Given the description of an element on the screen output the (x, y) to click on. 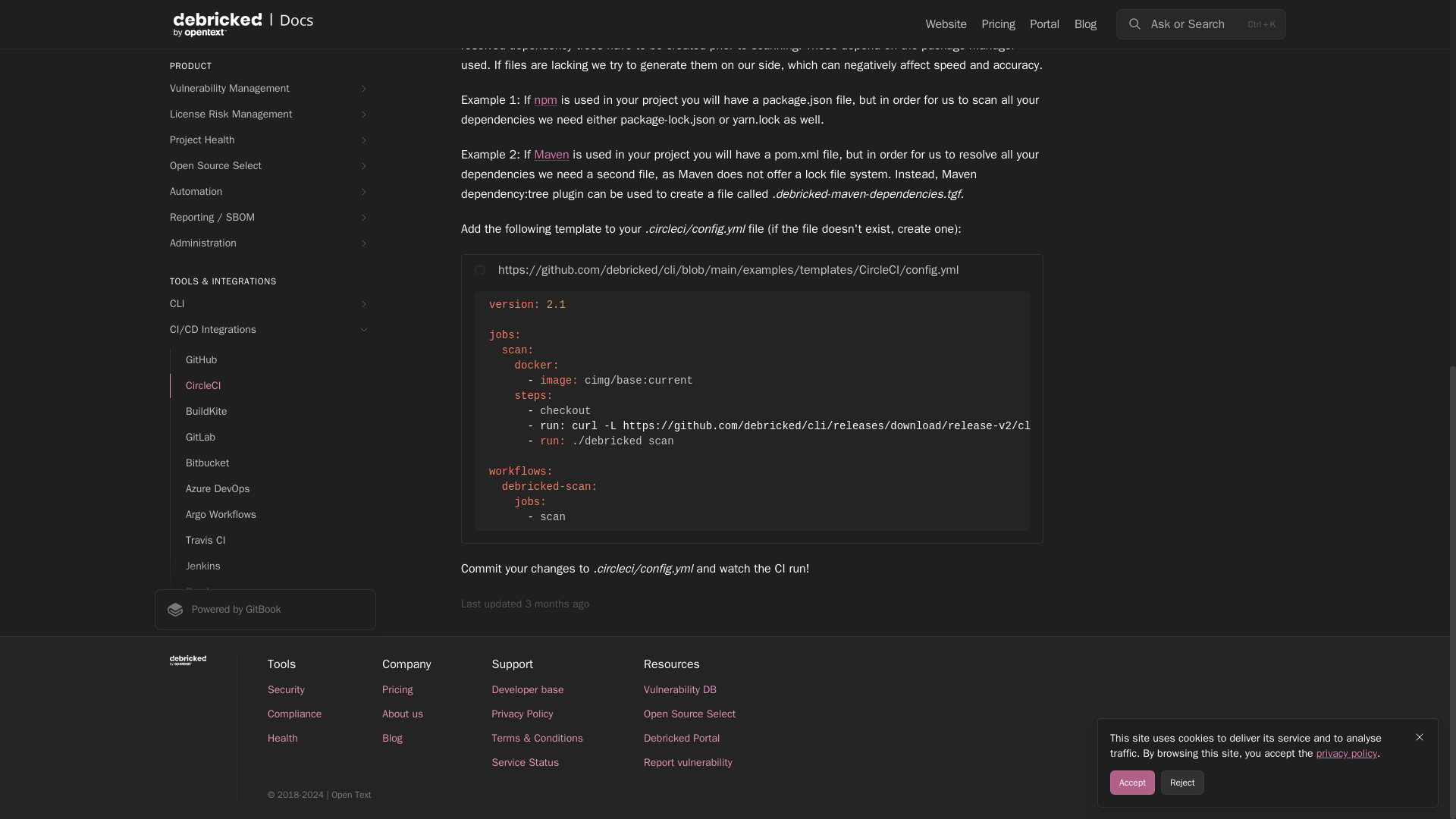
Close (1419, 75)
